Given the description of an element on the screen output the (x, y) to click on. 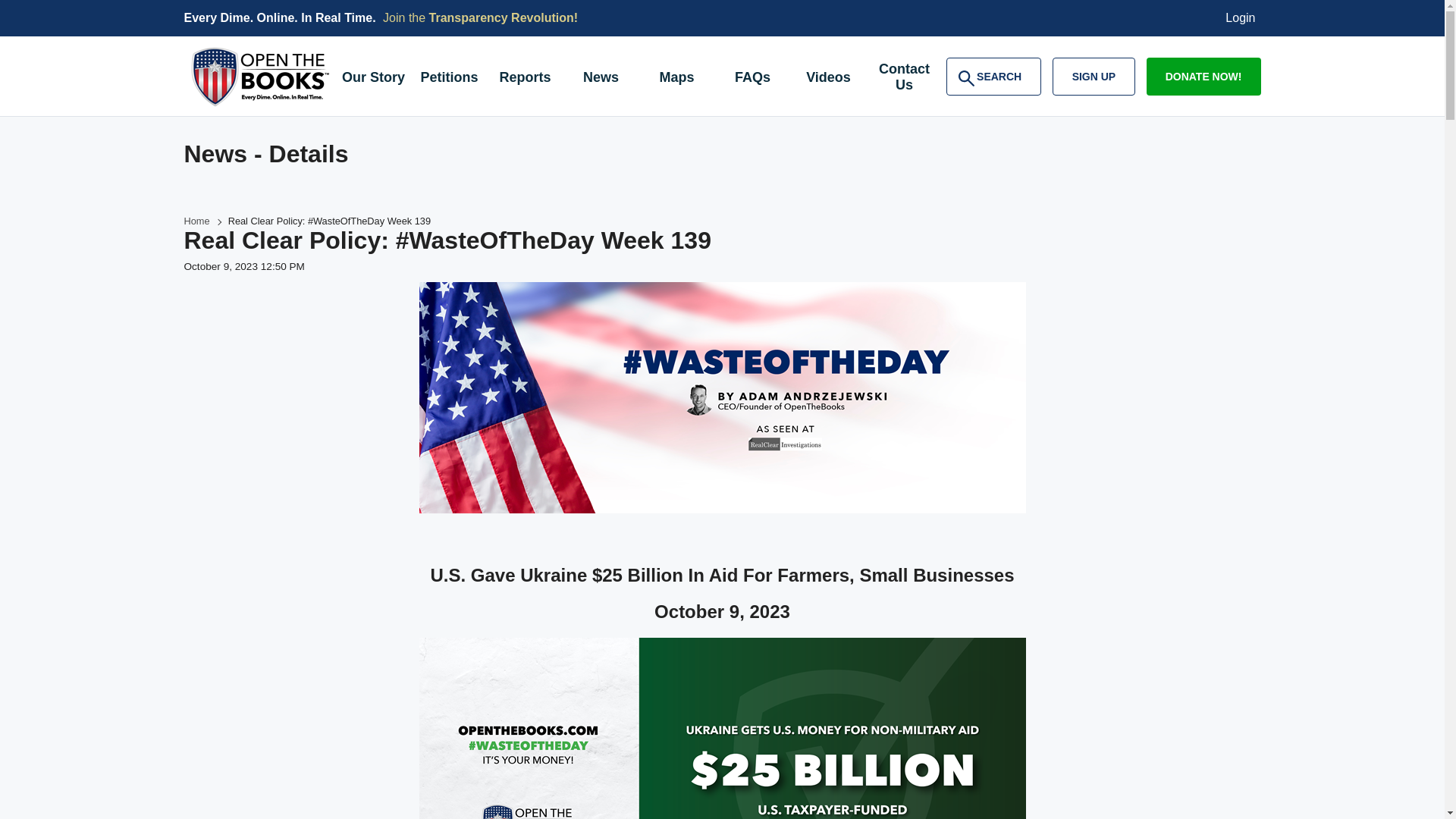
Login (1240, 18)
Our Story (372, 78)
Contact Us (904, 78)
Maps (676, 78)
News (600, 78)
DONATE NOW! (1203, 76)
Petitions (993, 76)
Transparency Revolution! (448, 78)
Reports (503, 17)
Videos (524, 78)
Home (828, 78)
SIGN UP (196, 220)
FAQs (1093, 76)
